Given the description of an element on the screen output the (x, y) to click on. 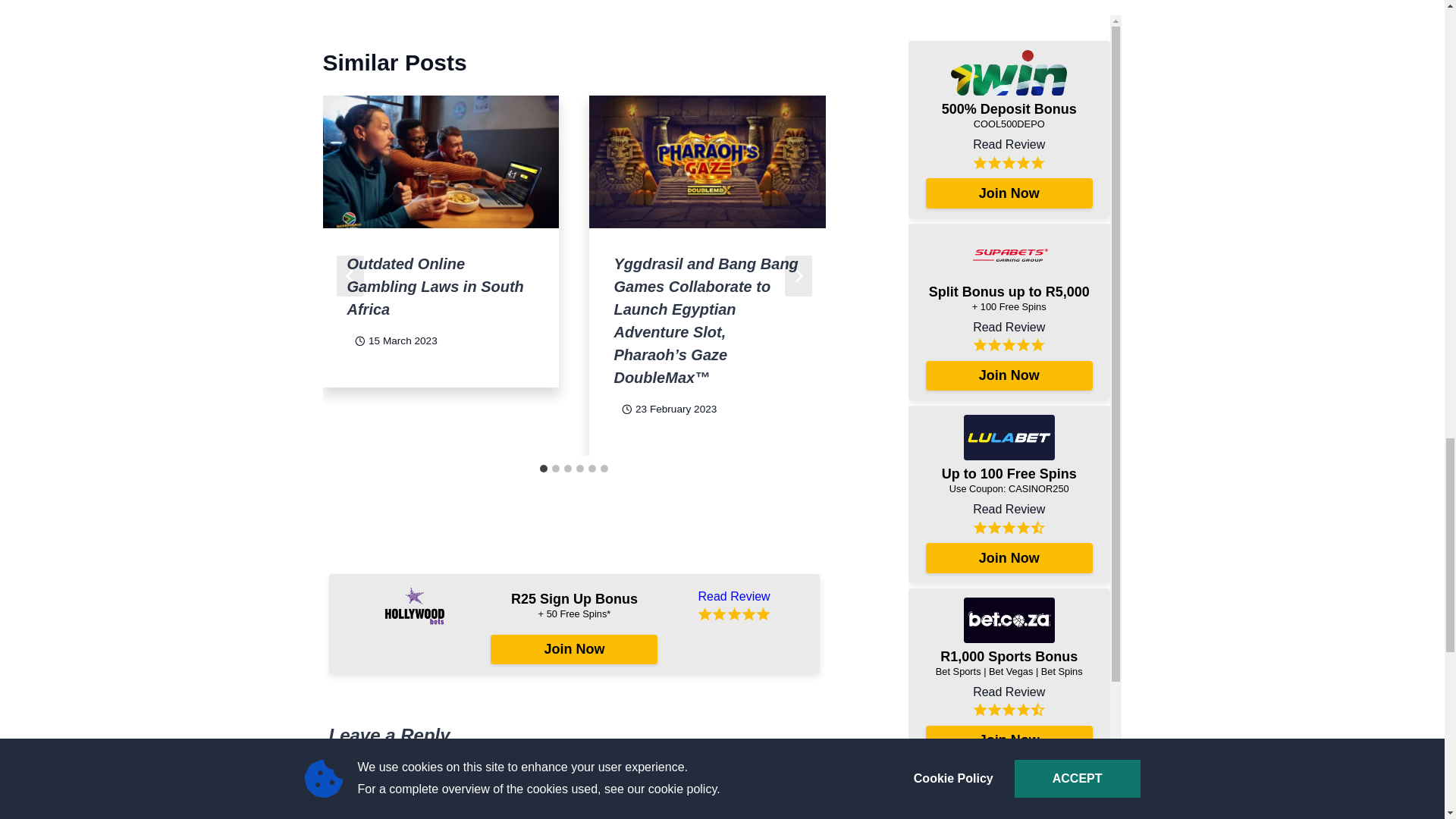
Outdated Online Gambling Laws in South Africa 1 (441, 161)
